Given the description of an element on the screen output the (x, y) to click on. 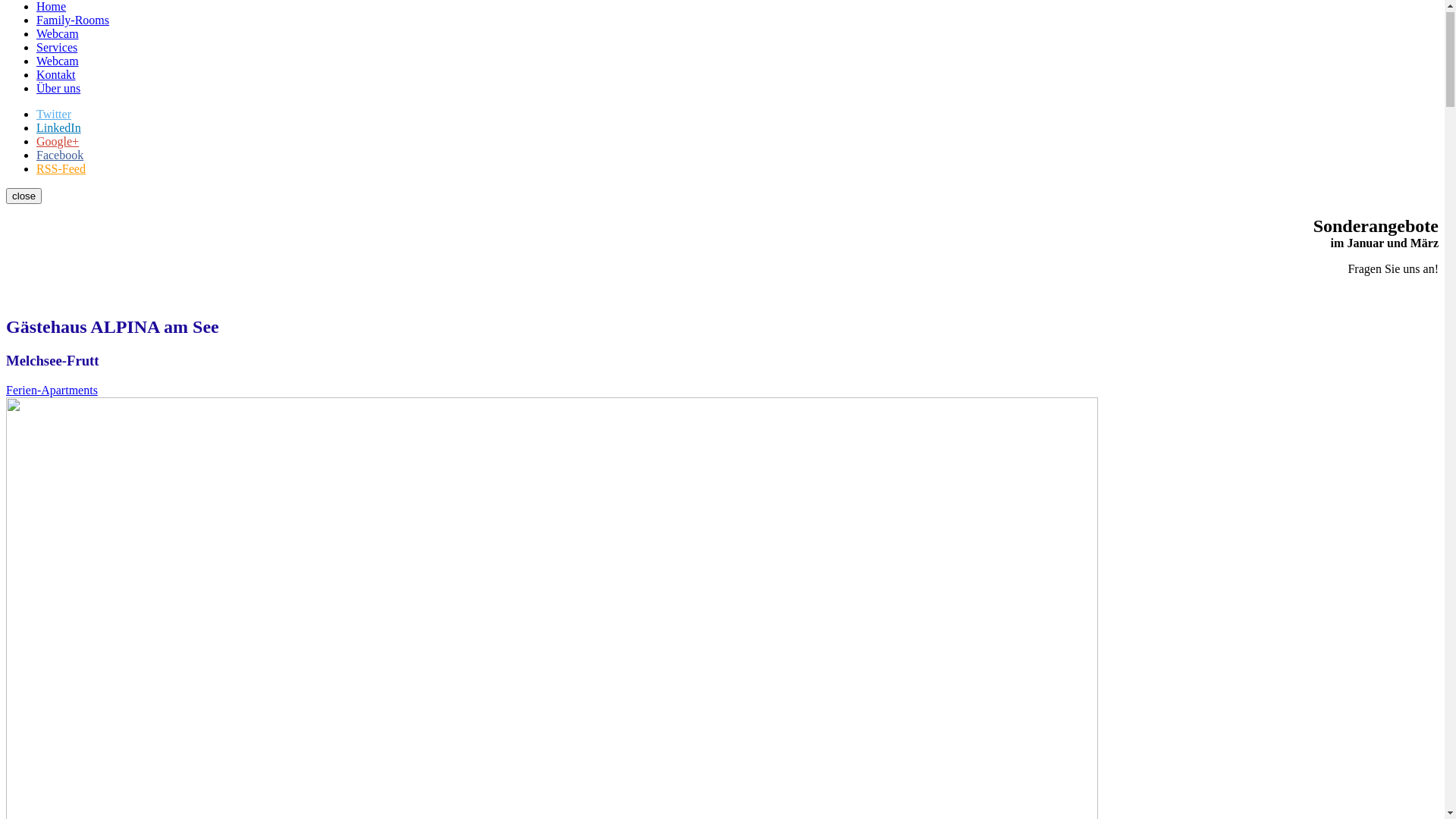
close Element type: text (23, 208)
Twitter Element type: text (53, 125)
Services Element type: text (56, 59)
LinkedIn Element type: text (58, 139)
Facebook Element type: text (59, 166)
Webcam Element type: text (57, 45)
Webcam Element type: text (57, 72)
Family-Rooms Element type: text (72, 31)
RSS-Feed Element type: text (60, 180)
Ferien-Apartments Element type: text (51, 401)
Home Element type: text (50, 18)
Kontakt Element type: text (55, 86)
Google+ Element type: text (57, 153)
